Given the description of an element on the screen output the (x, y) to click on. 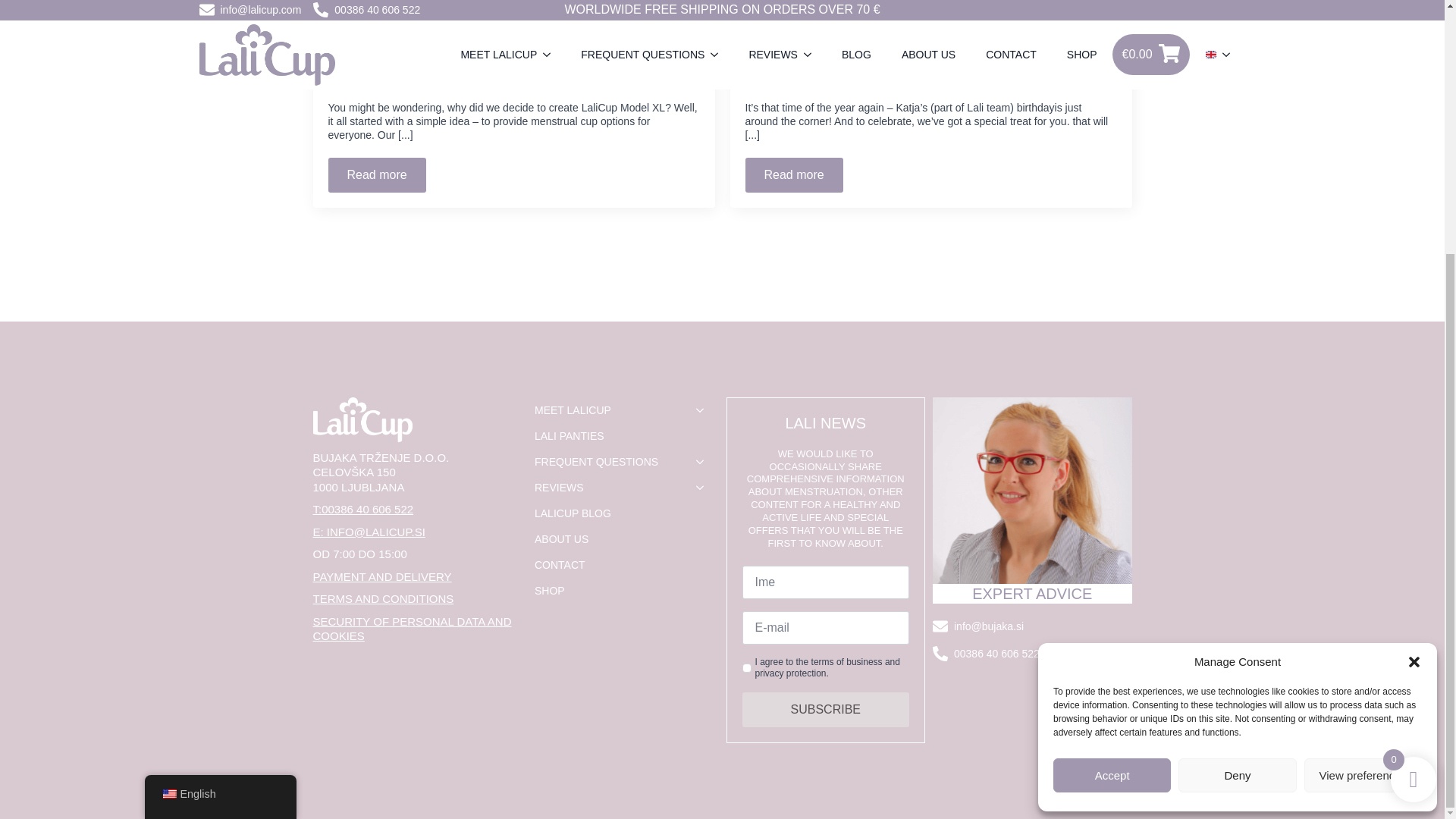
Accept (1111, 416)
I agree to the terms of business and privacy protection. (746, 667)
View preferences (1363, 416)
English (168, 434)
Deny (1236, 416)
